Given the description of an element on the screen output the (x, y) to click on. 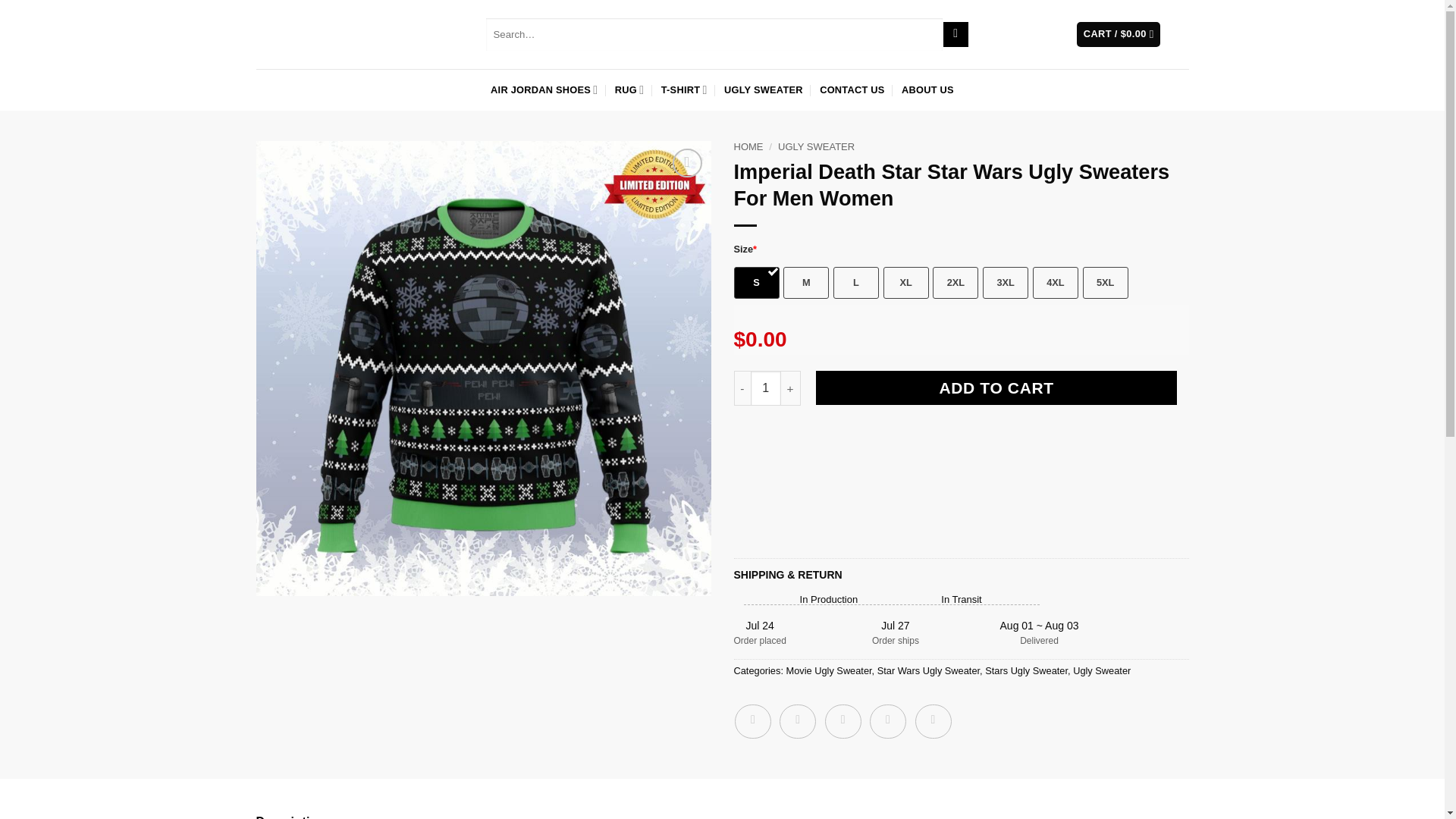
Search (955, 34)
3XL (1004, 282)
T-SHIRT (684, 90)
4XL (1055, 282)
Cart (1118, 34)
S (755, 282)
AIR JORDAN SHOES (543, 90)
RUG (629, 90)
Zoom (686, 162)
RugControl - Welcome To Rugcontrol Shop (318, 33)
L (855, 282)
5XL (1105, 282)
2XL (955, 282)
M (805, 282)
